Given the description of an element on the screen output the (x, y) to click on. 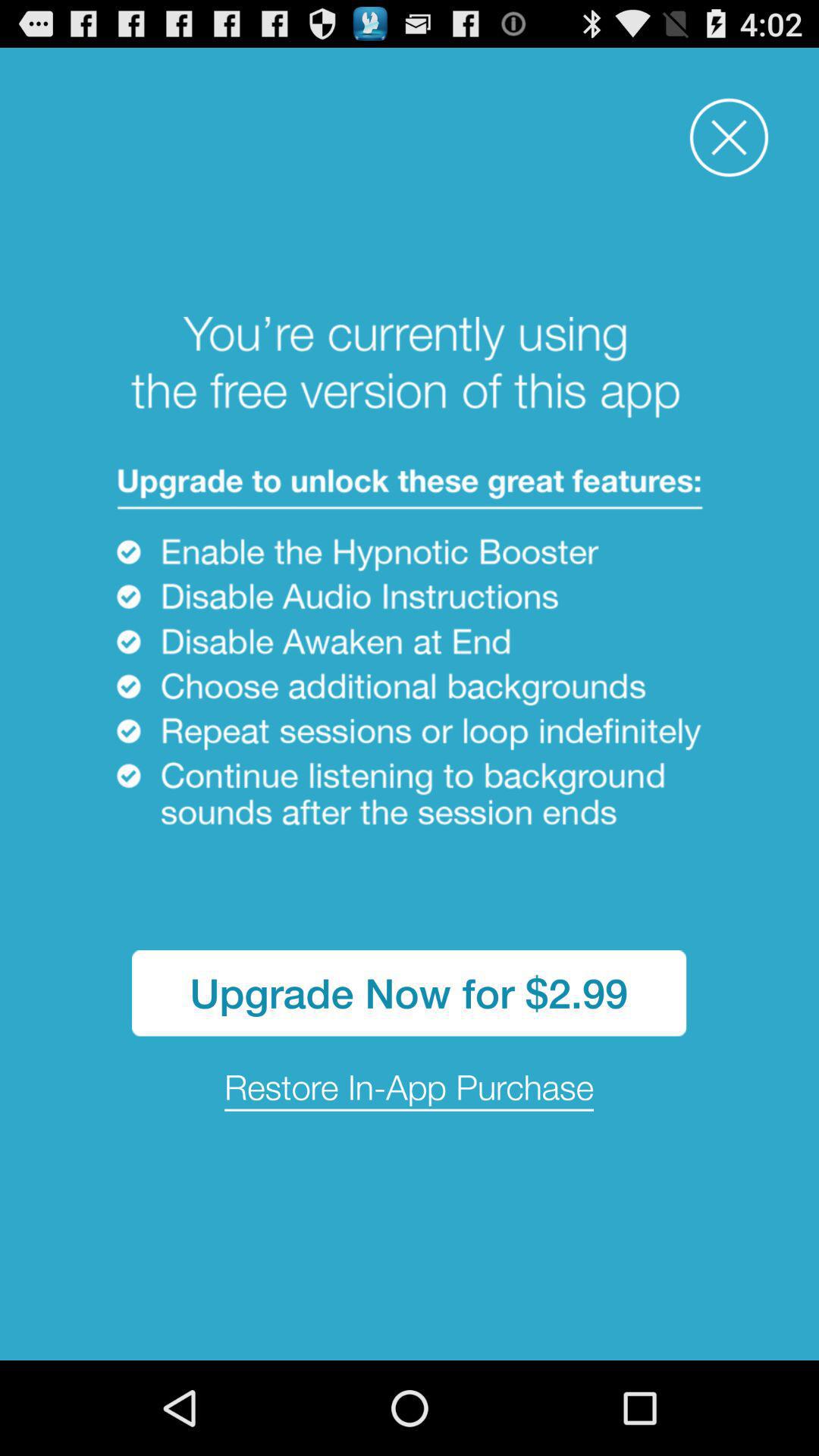
close the advertisement (728, 137)
